Given the description of an element on the screen output the (x, y) to click on. 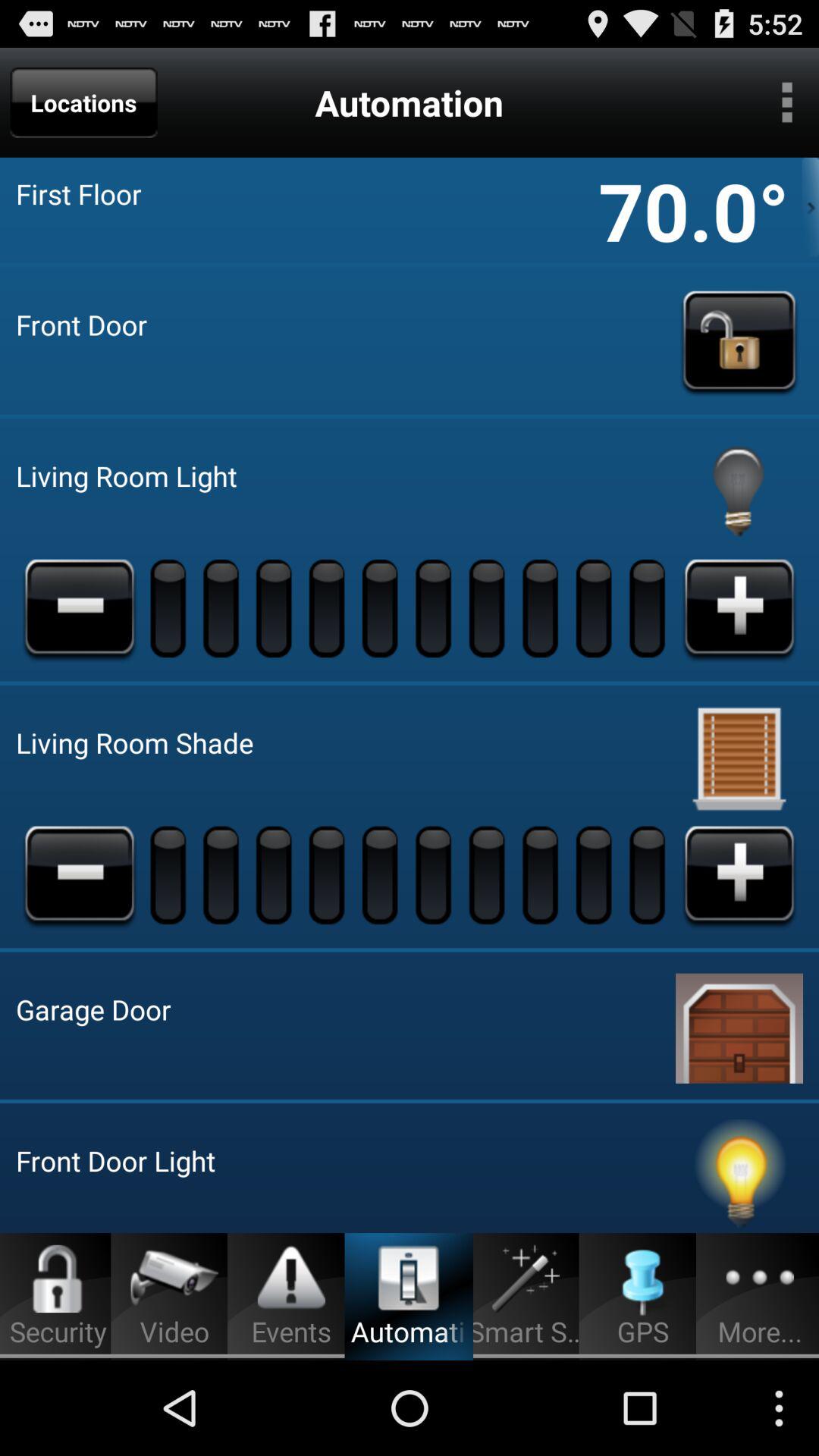
lock or unlock (739, 340)
